Given the description of an element on the screen output the (x, y) to click on. 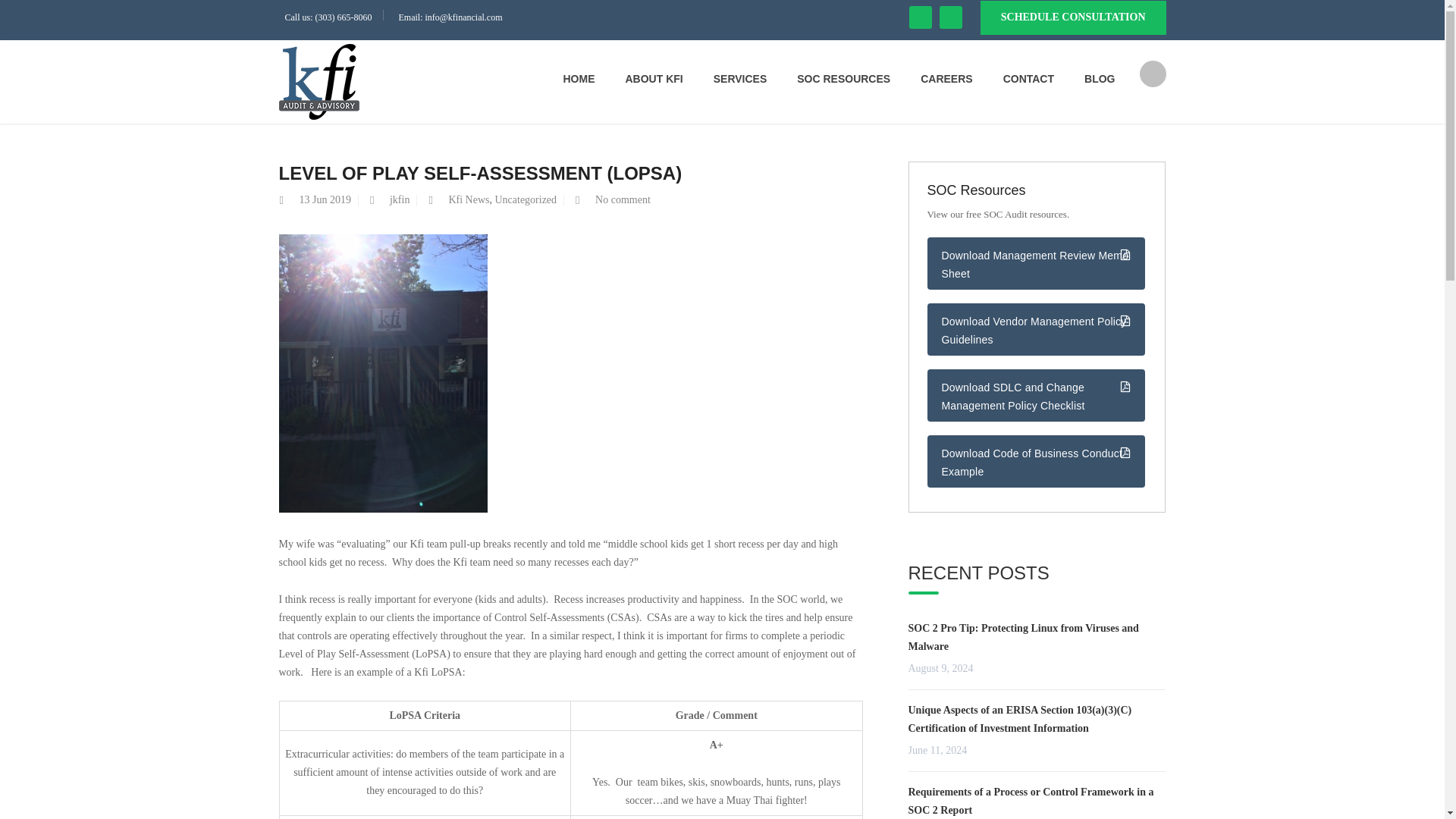
Kfi News (468, 199)
SERVICES (740, 78)
CONTACT (1028, 78)
jkfin (399, 199)
SCHEDULE CONSULTATION (1072, 17)
No comment (622, 199)
Search (1144, 132)
Download Management Review Memo Sheet (1035, 263)
kfinancial.com (319, 80)
Download Code of Business Conduct Example (1035, 460)
